Given the description of an element on the screen output the (x, y) to click on. 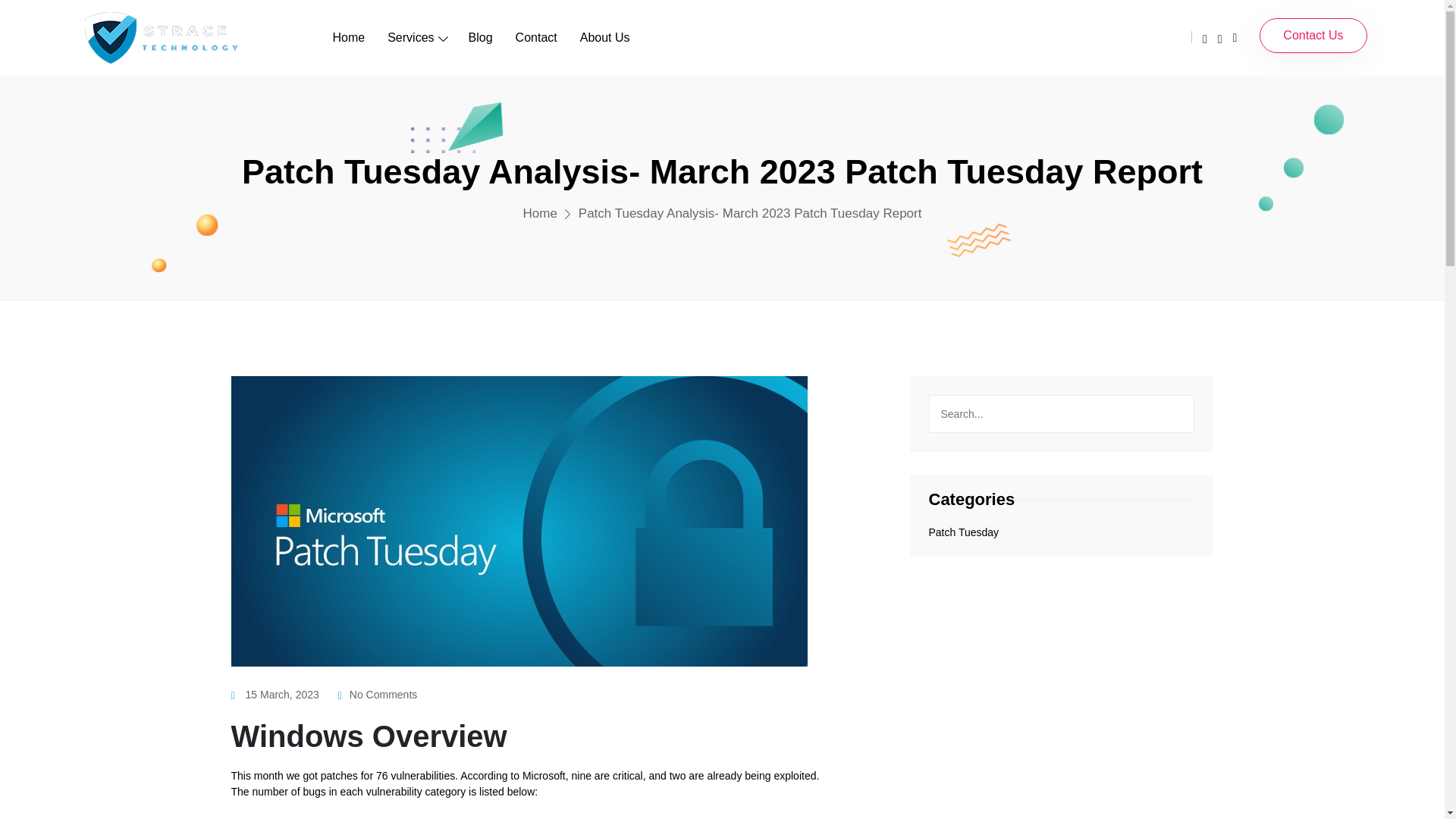
Services (416, 37)
Services (416, 37)
Patch Tuesday (963, 532)
Home (539, 213)
Contact Us (1313, 35)
